Given the description of an element on the screen output the (x, y) to click on. 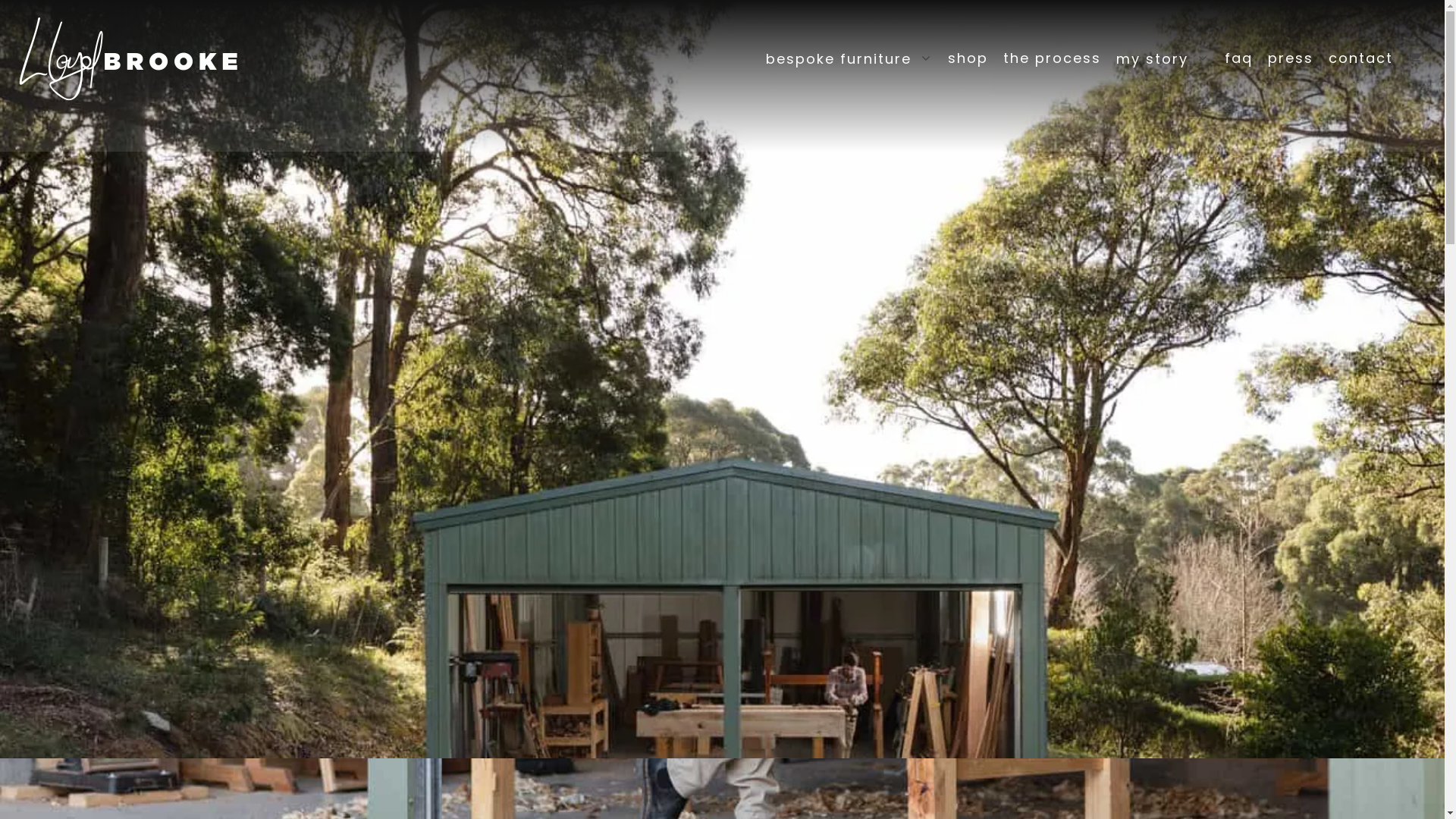
View your shopping cart Element type: hover (1414, 58)
press Element type: text (1290, 57)
bespoke furniture Element type: text (849, 58)
Lloyd Brooke Furniture Element type: hover (128, 56)
the process Element type: text (1051, 57)
contact Element type: text (1360, 57)
my story Element type: text (1162, 58)
shop Element type: text (967, 57)
faq Element type: text (1238, 57)
Lloyd Brooke Furniture Element type: hover (128, 58)
